Given the description of an element on the screen output the (x, y) to click on. 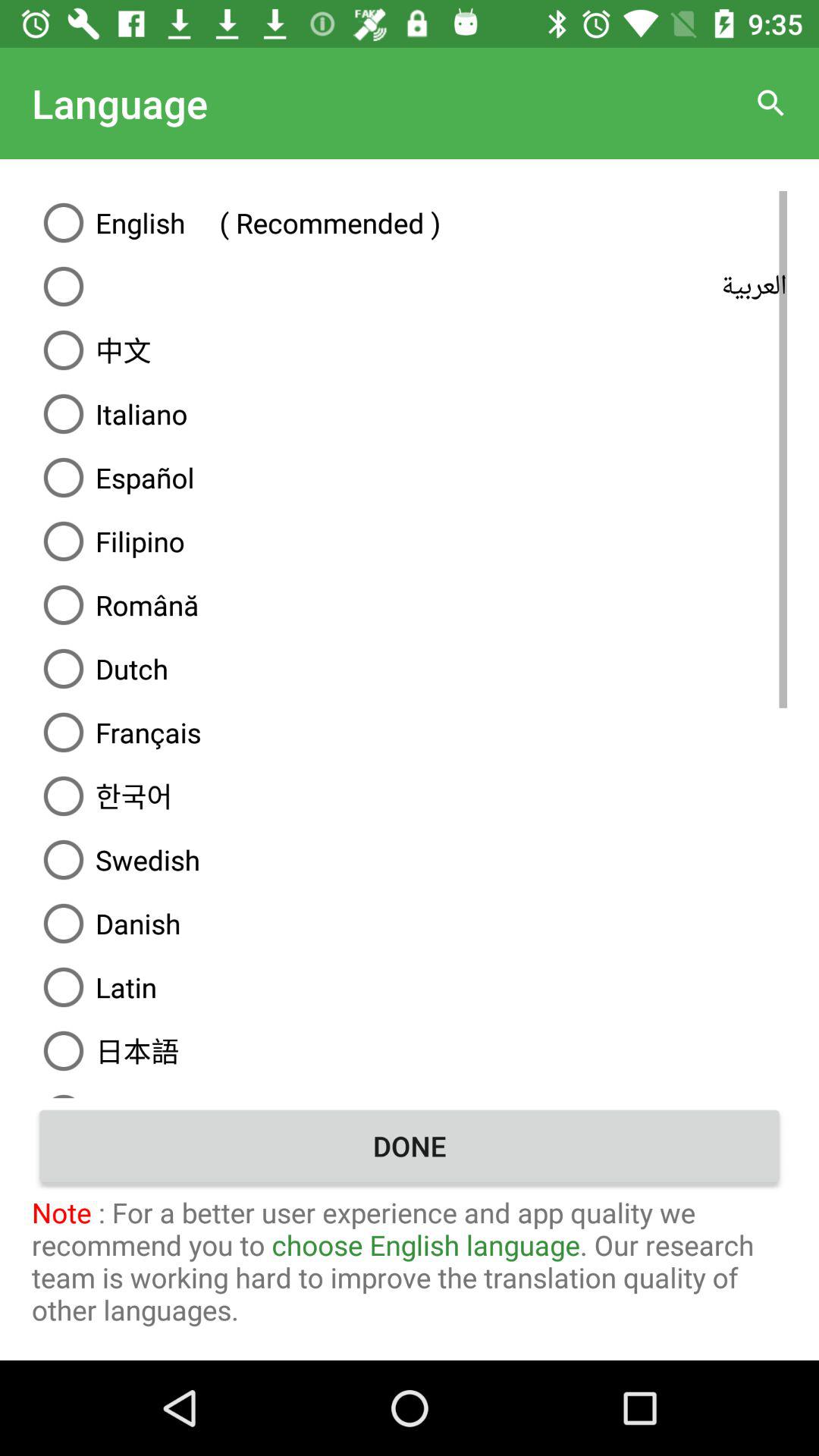
click the icon below danish item (409, 987)
